Given the description of an element on the screen output the (x, y) to click on. 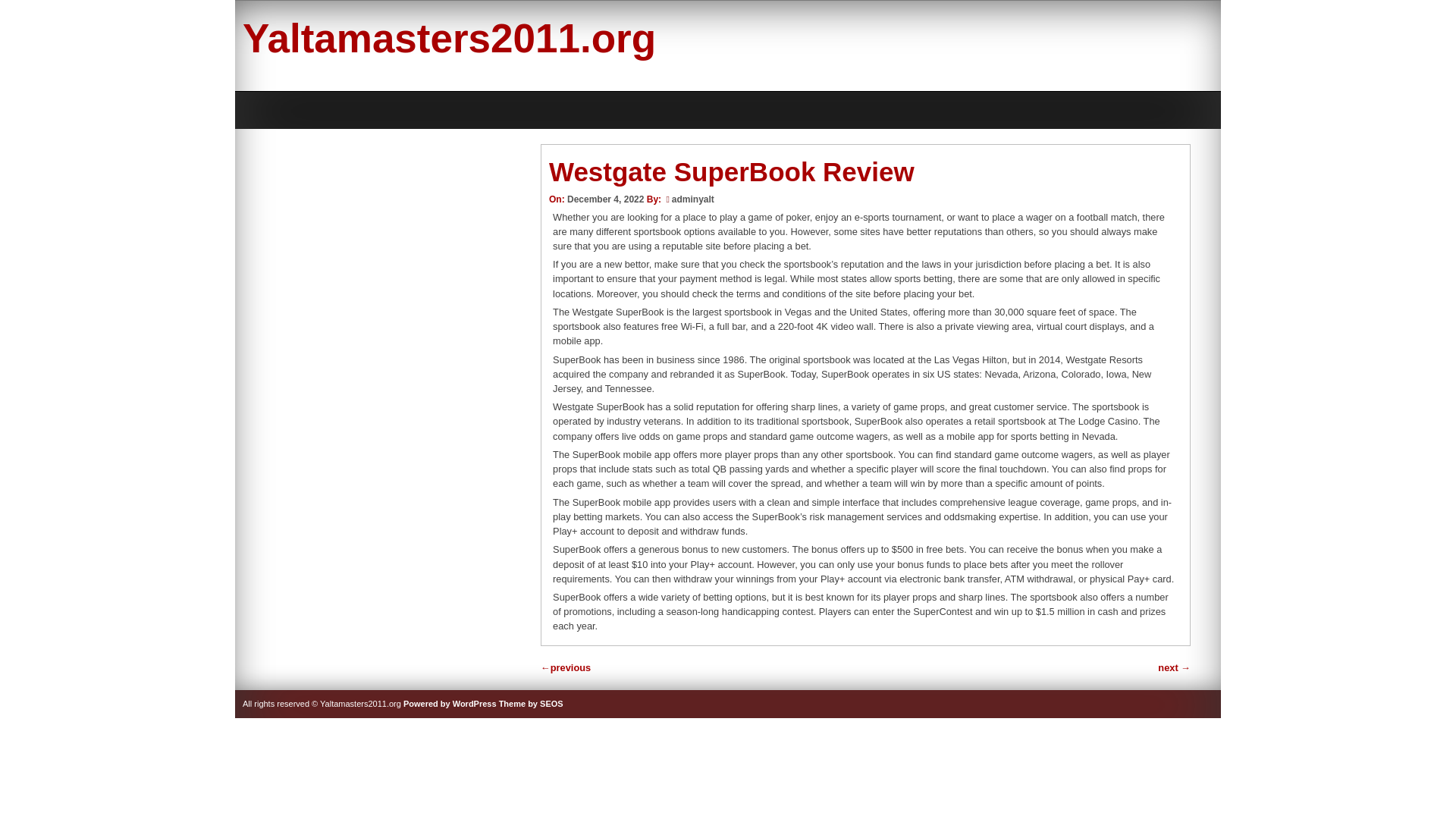
Seos free wordpress themes (531, 703)
Yaltamasters2011.org (449, 37)
adminyalt (692, 199)
Theme by SEOS (531, 703)
December 4, 2022 (605, 199)
Powered by WordPress (449, 703)
